Given the description of an element on the screen output the (x, y) to click on. 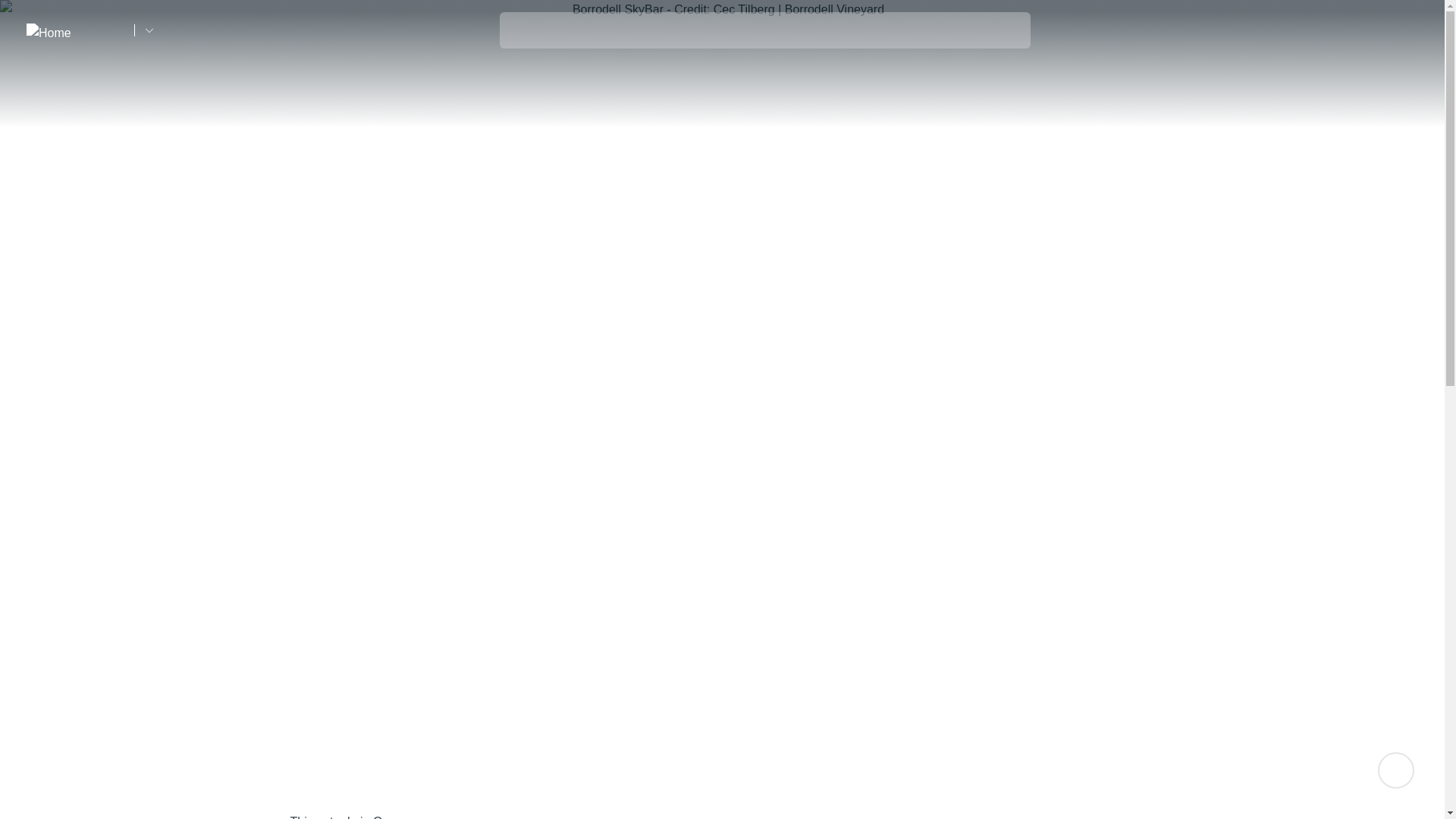
Go to (148, 30)
Home (74, 29)
Toggle navigation (1407, 31)
Open (1407, 29)
Submit the search query. (520, 27)
